Given the description of an element on the screen output the (x, y) to click on. 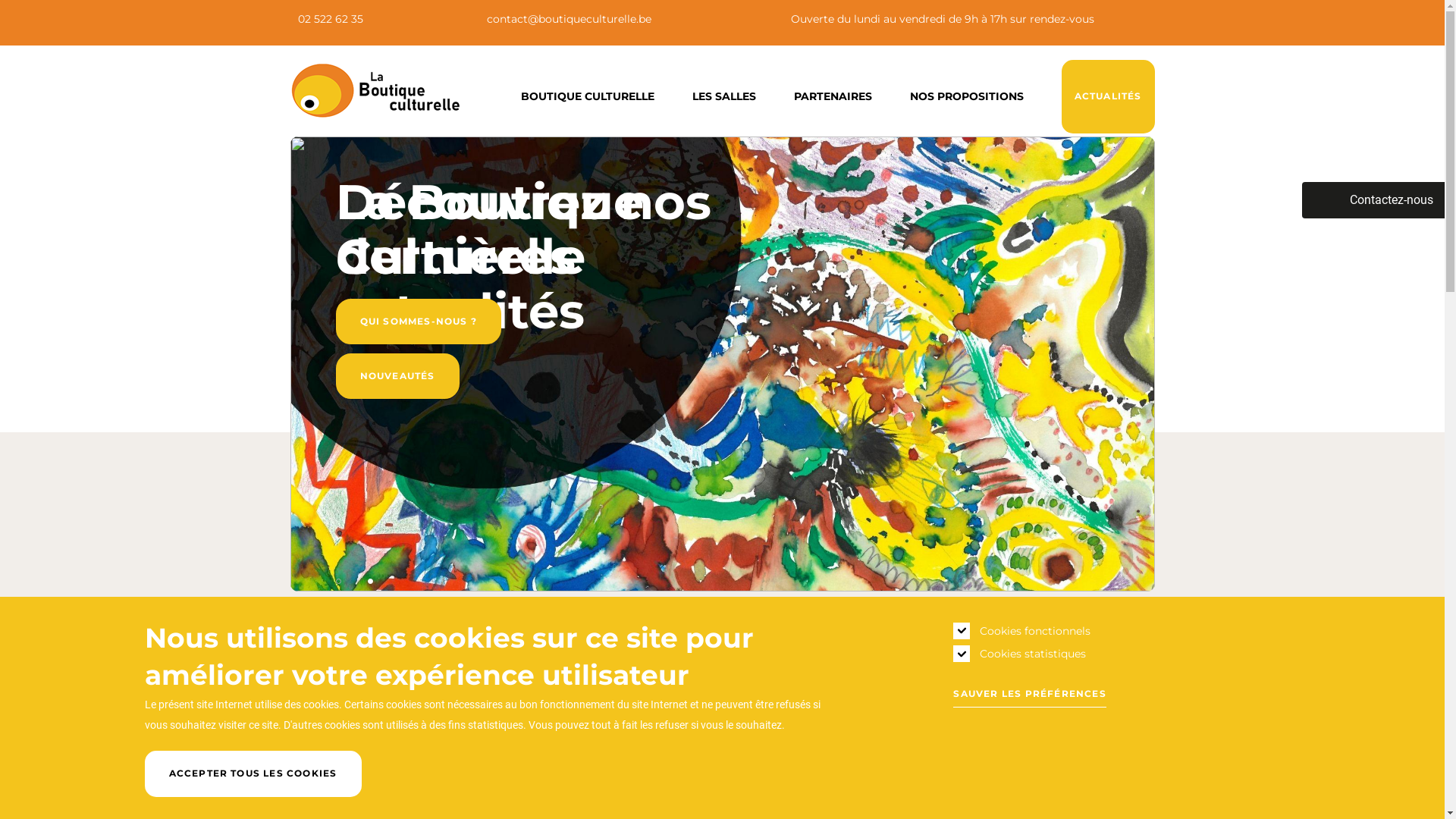
PARTENAIRES Element type: text (832, 95)
RETIRER LE CONSENTEMENT Element type: text (384, 767)
02 522 62 35 Element type: text (325, 18)
ACCEPTER TOUS LES COOKIES Element type: text (252, 773)
contact@boutiqueculturelle.be Element type: text (565, 18)
Contactez-nous Element type: text (1373, 200)
QUI SOMMES-NOUS ? Element type: text (417, 321)
